Given the description of an element on the screen output the (x, y) to click on. 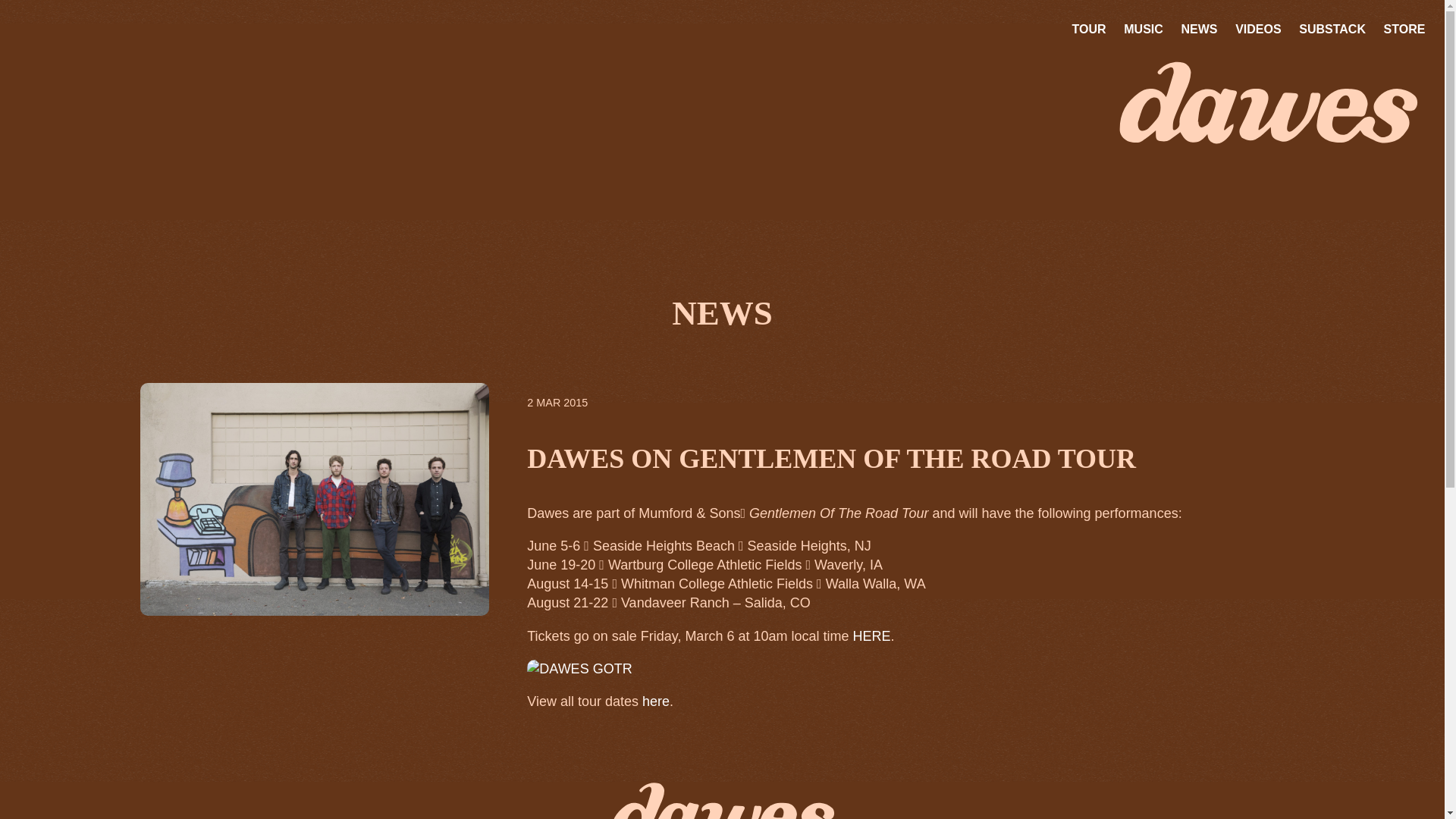
NEWS (1198, 28)
MUSIC (1143, 28)
VIDEOS (1258, 28)
here (655, 701)
TOUR (1088, 28)
STORE (1403, 28)
HERE (870, 635)
SUBSTACK (1332, 28)
